Given the description of an element on the screen output the (x, y) to click on. 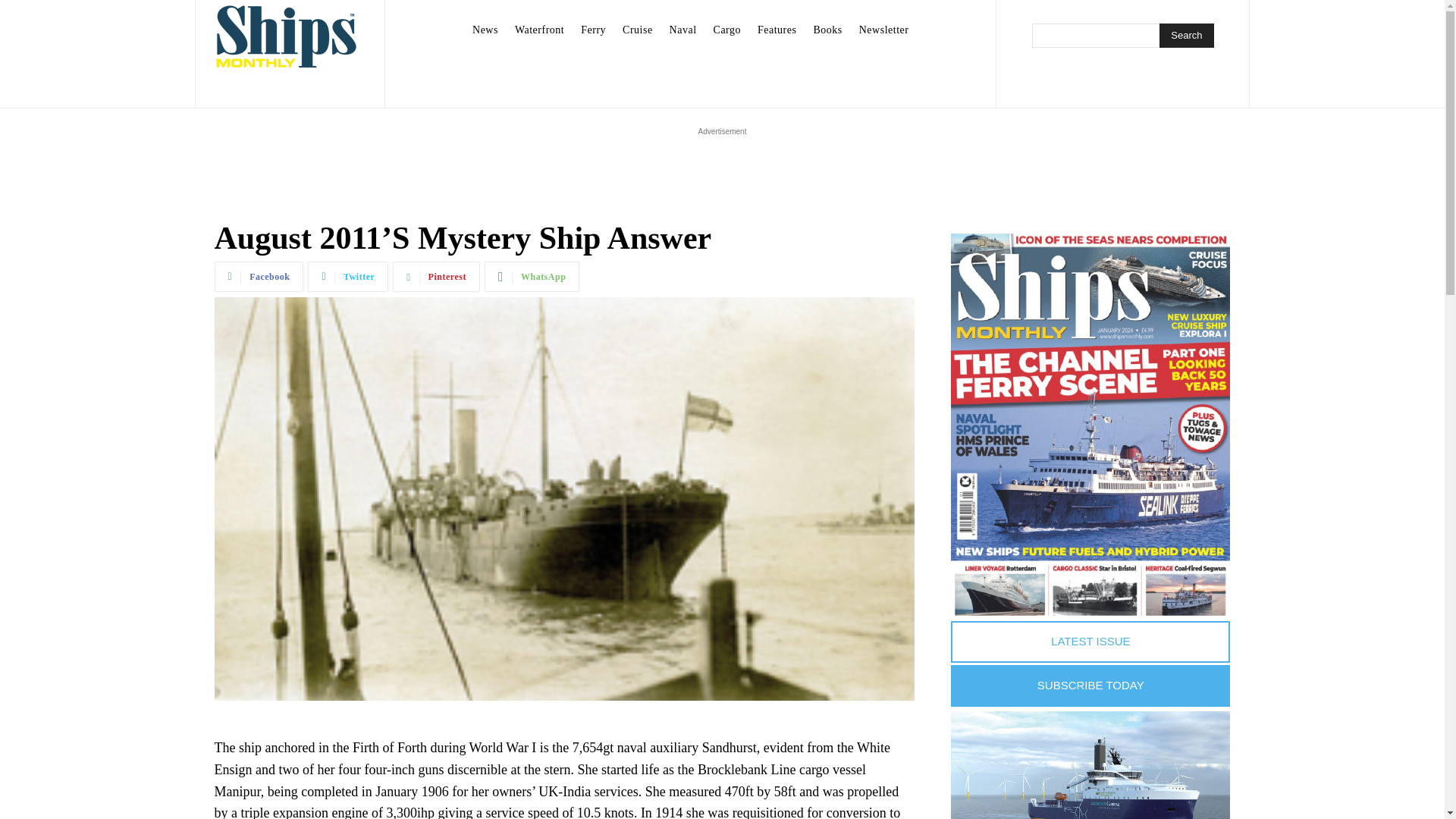
Pinterest (436, 276)
Twitter (347, 276)
Facebook (258, 276)
WhatsApp (531, 276)
Newsletter (884, 30)
Waterfront (539, 30)
Search (1185, 35)
